Given the description of an element on the screen output the (x, y) to click on. 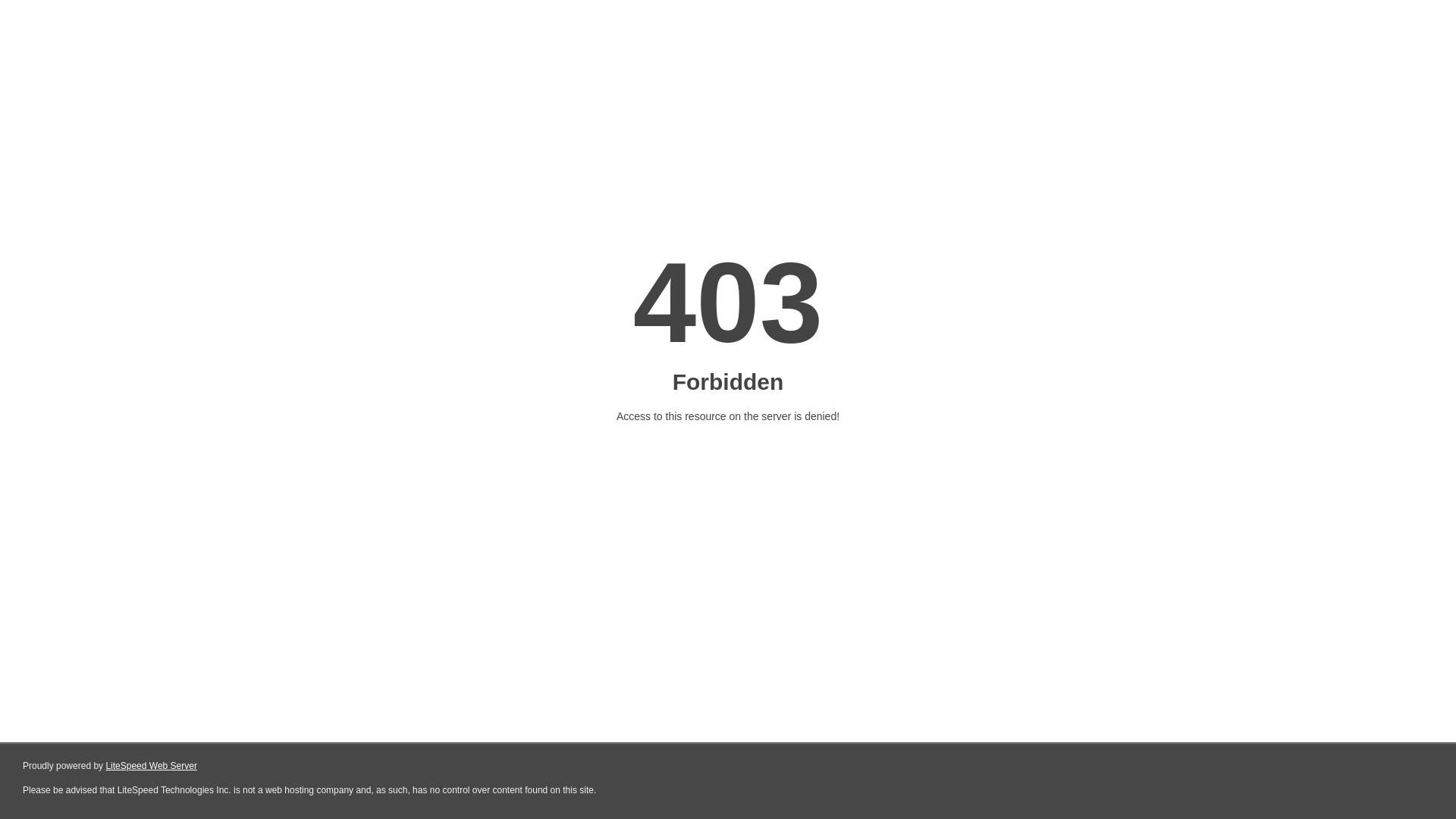
LiteSpeed Web Server Element type: text (151, 765)
